Given the description of an element on the screen output the (x, y) to click on. 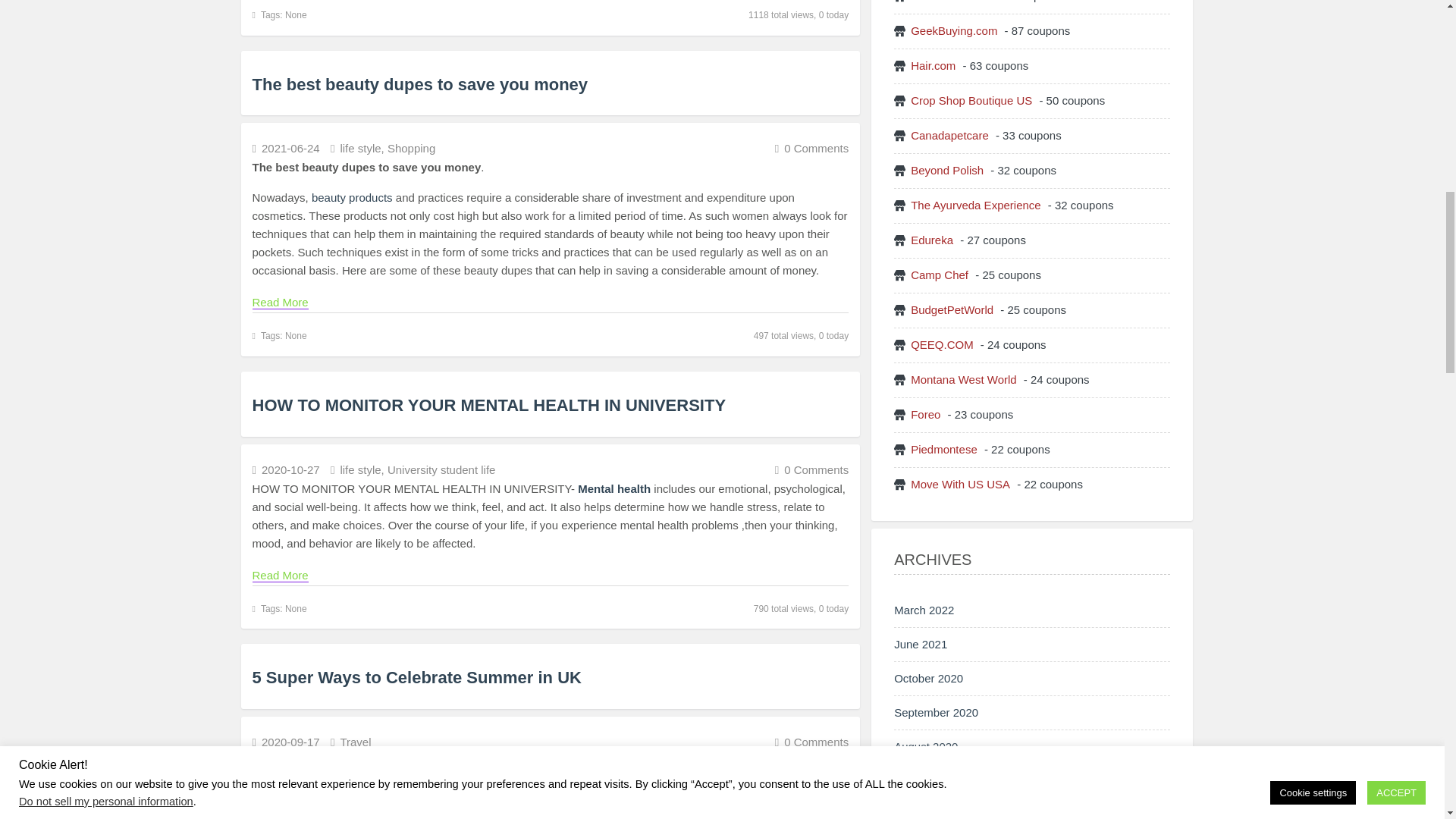
Read More (279, 302)
Travel (355, 741)
life style (359, 147)
beauty products (352, 196)
The best beauty dupes to save you money (419, 84)
5 Super Ways to Celebrate Summer in UK (415, 677)
HOW TO MONITOR YOUR MENTAL HEALTH IN UNIVERSITY (488, 404)
Mental health (615, 488)
Shopping (411, 147)
University student life (441, 469)
